Given the description of an element on the screen output the (x, y) to click on. 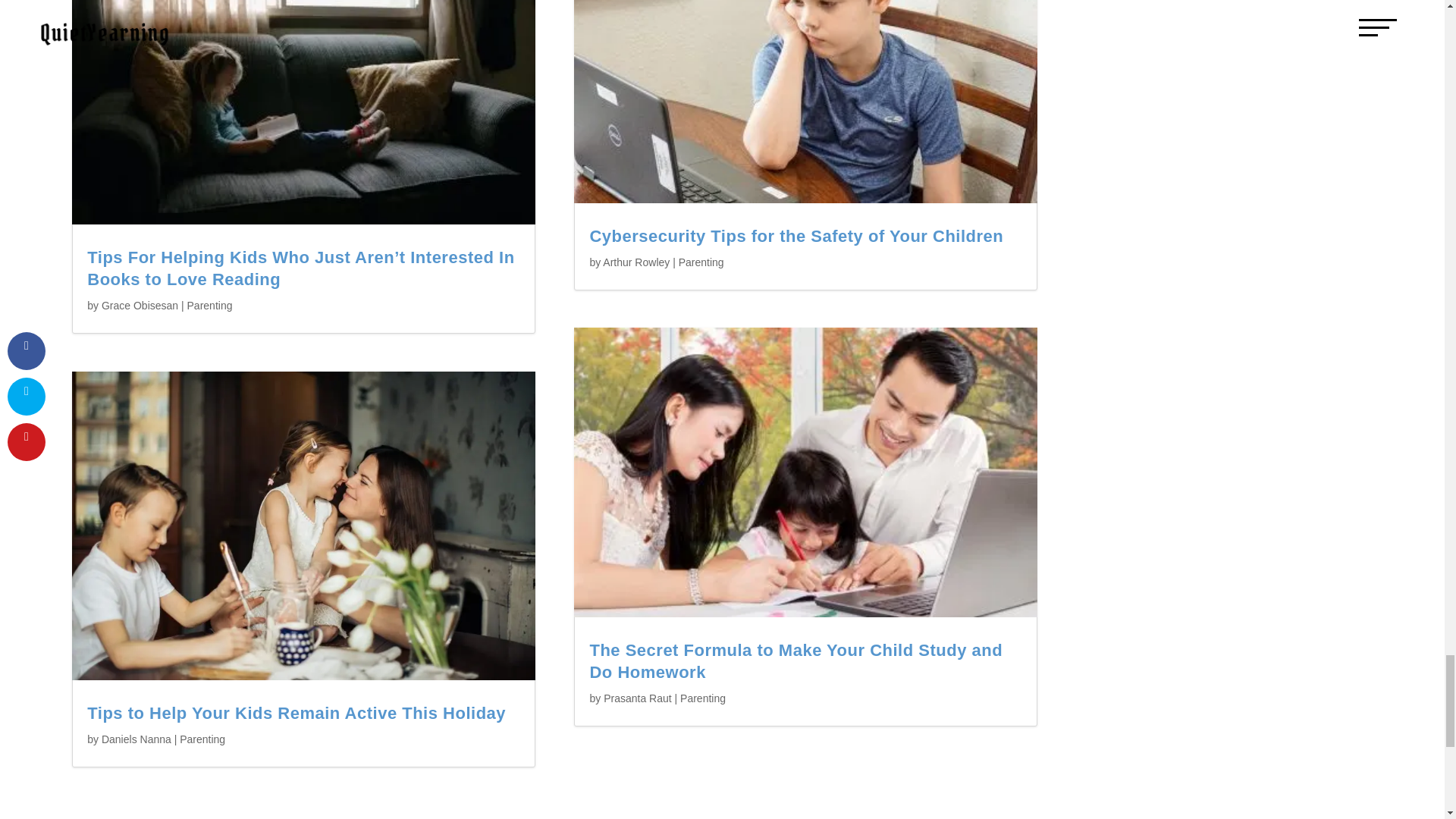
Tips to Help Your Kids Remain Active This Holiday (296, 712)
Posts by Arthur Rowley (635, 262)
Posts by Prasanta Raut (637, 698)
Parenting (209, 305)
Parenting (202, 739)
Posts by Grace Obisesan (139, 305)
Daniels Nanna (136, 739)
Grace Obisesan (139, 305)
Posts by Daniels Nanna (136, 739)
